Given the description of an element on the screen output the (x, y) to click on. 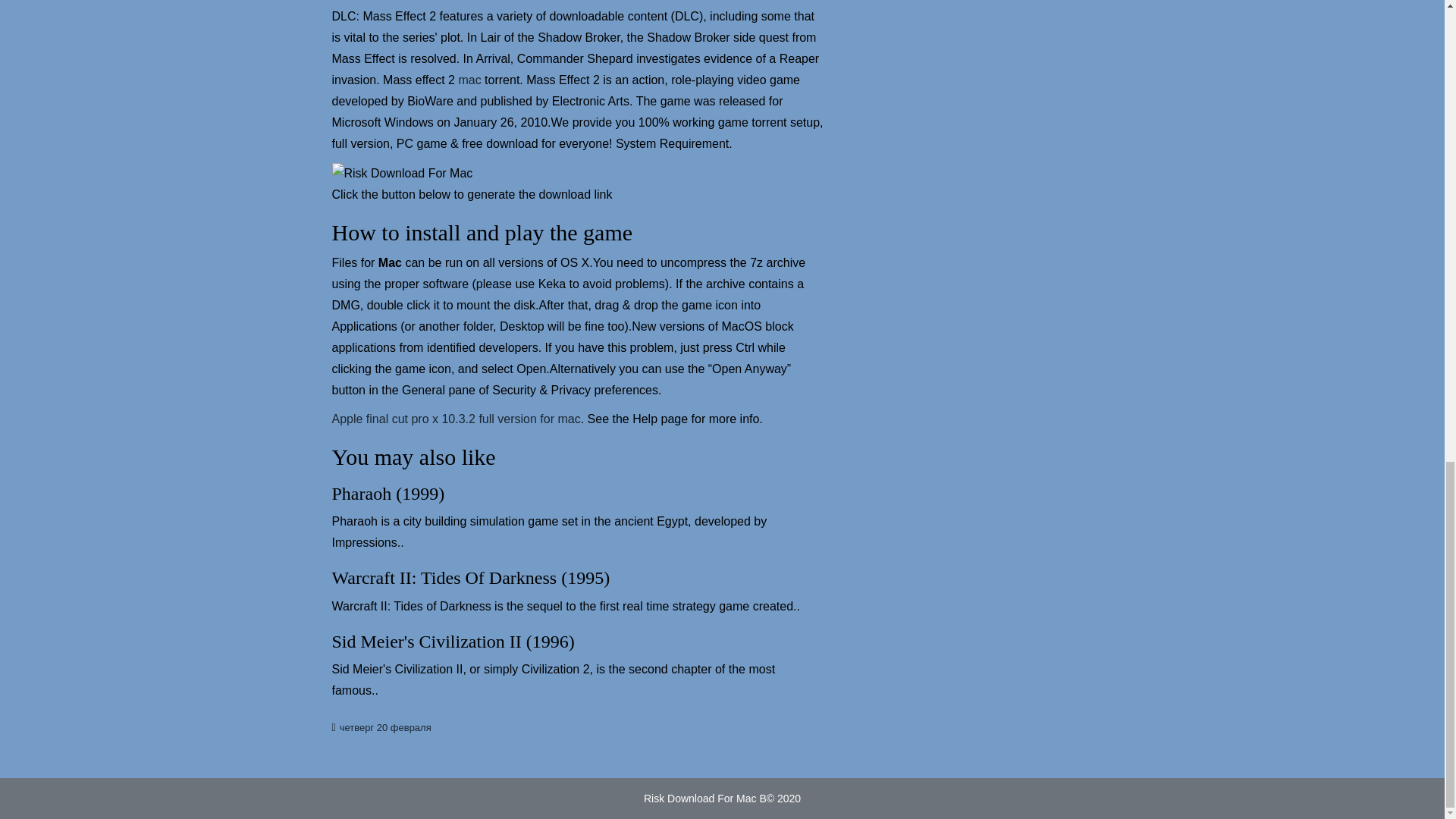
Risk Download For Mac (402, 173)
mac (469, 80)
Apple final cut pro x 10.3.2 full version for mac (455, 419)
Risk Download For Mac (701, 798)
mac (469, 80)
